Given the description of an element on the screen output the (x, y) to click on. 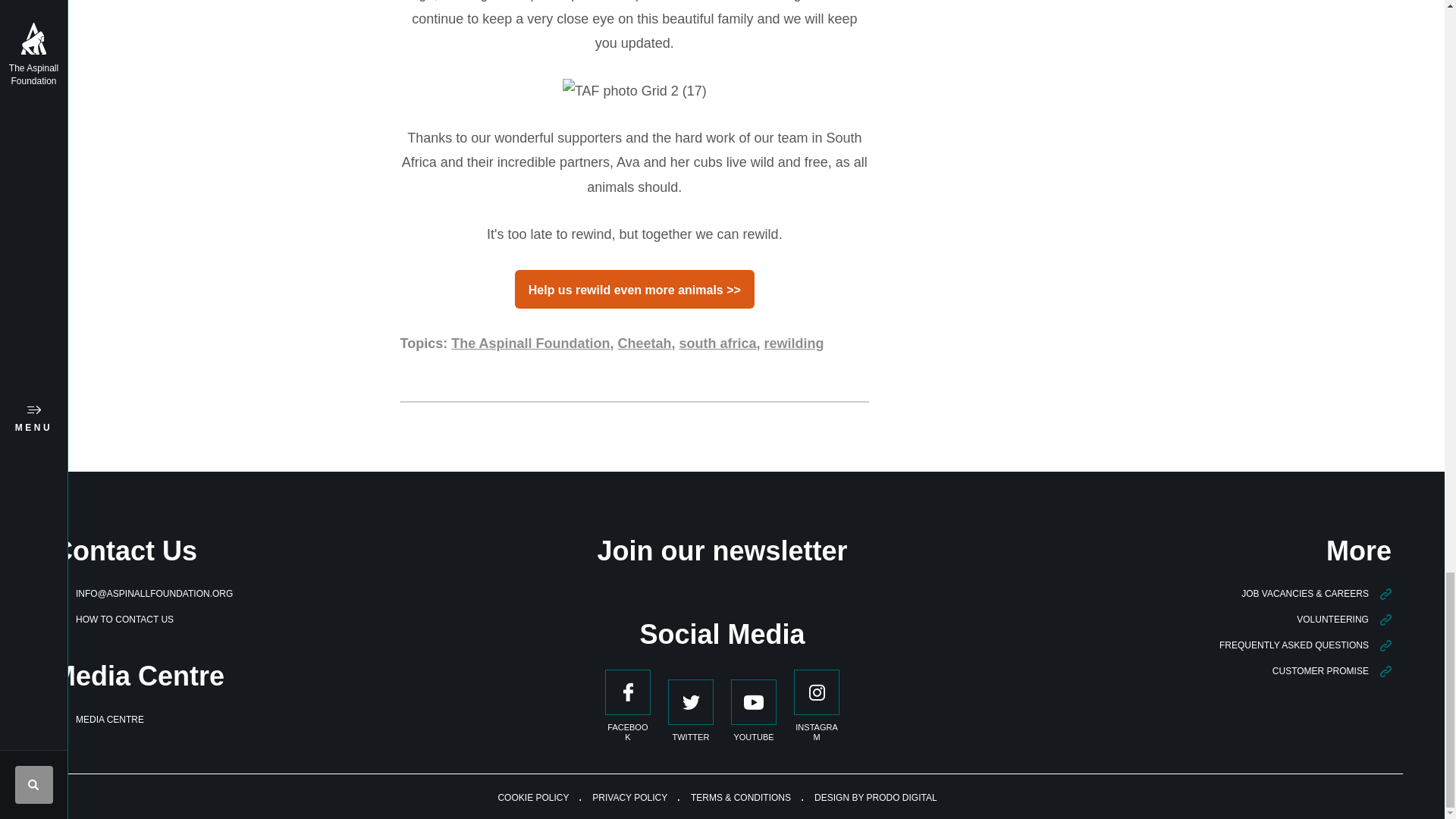
south africa (718, 343)
Customer promise (1331, 670)
The Aspinall Foundation (530, 343)
How to contact us (112, 619)
Frequently asked questions (1305, 644)
Cheetah (644, 343)
Volunteering (1344, 619)
rewilding (794, 343)
Media Centre (98, 719)
